Given the description of an element on the screen output the (x, y) to click on. 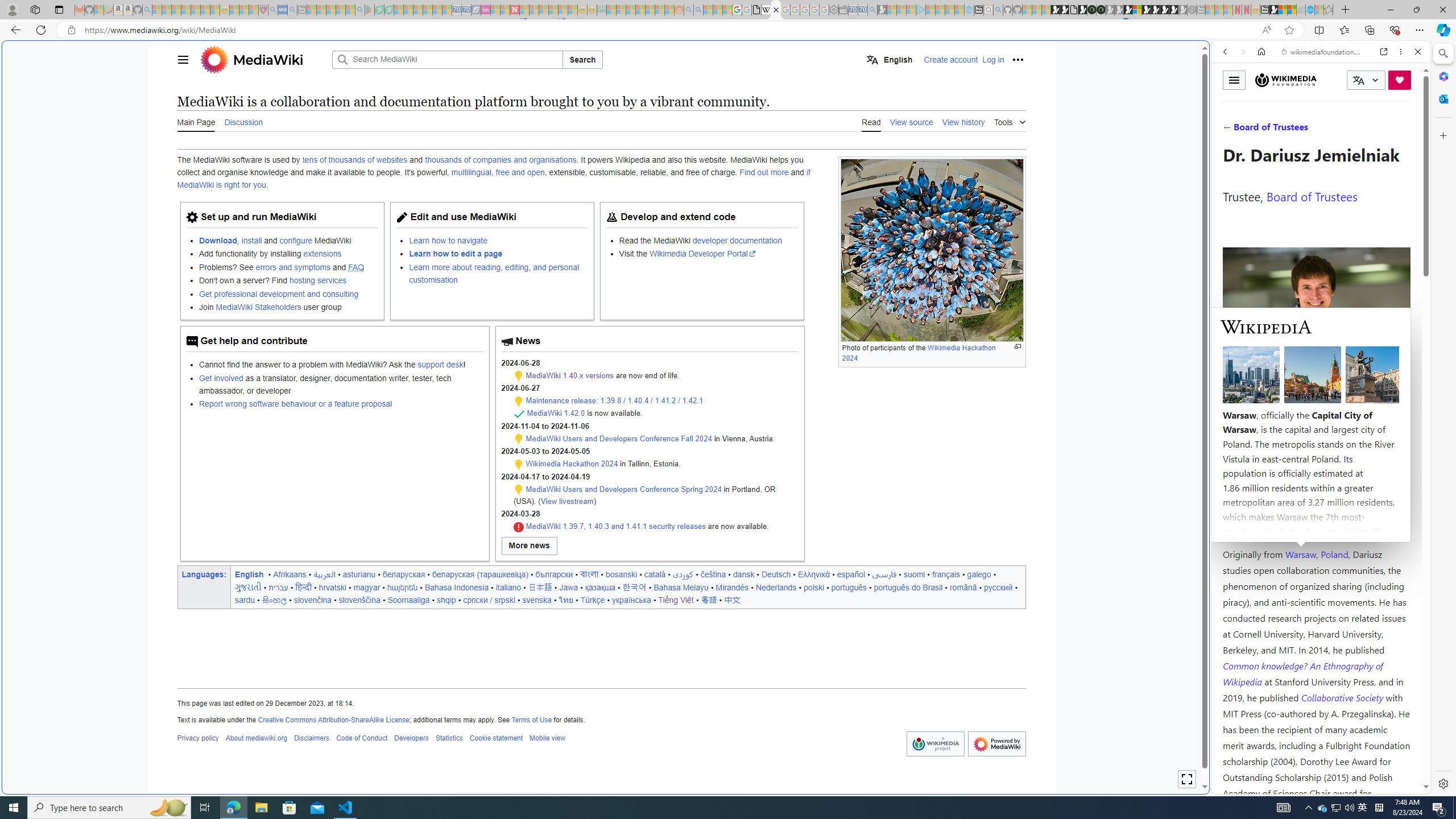
Deutsch (775, 574)
Learn how to navigate (448, 239)
Expert Portfolios - Sleeping (639, 9)
polski (813, 587)
developer documentation (736, 239)
Statistics (449, 738)
Cheap Hotels - Save70.com - Sleeping (466, 9)
install (251, 239)
Favorites - Sleeping (1328, 9)
Find out more (764, 172)
Trusted Community Engagement and Contributions | Guidelines (524, 9)
Wallet - Sleeping (843, 9)
